Given the description of an element on the screen output the (x, y) to click on. 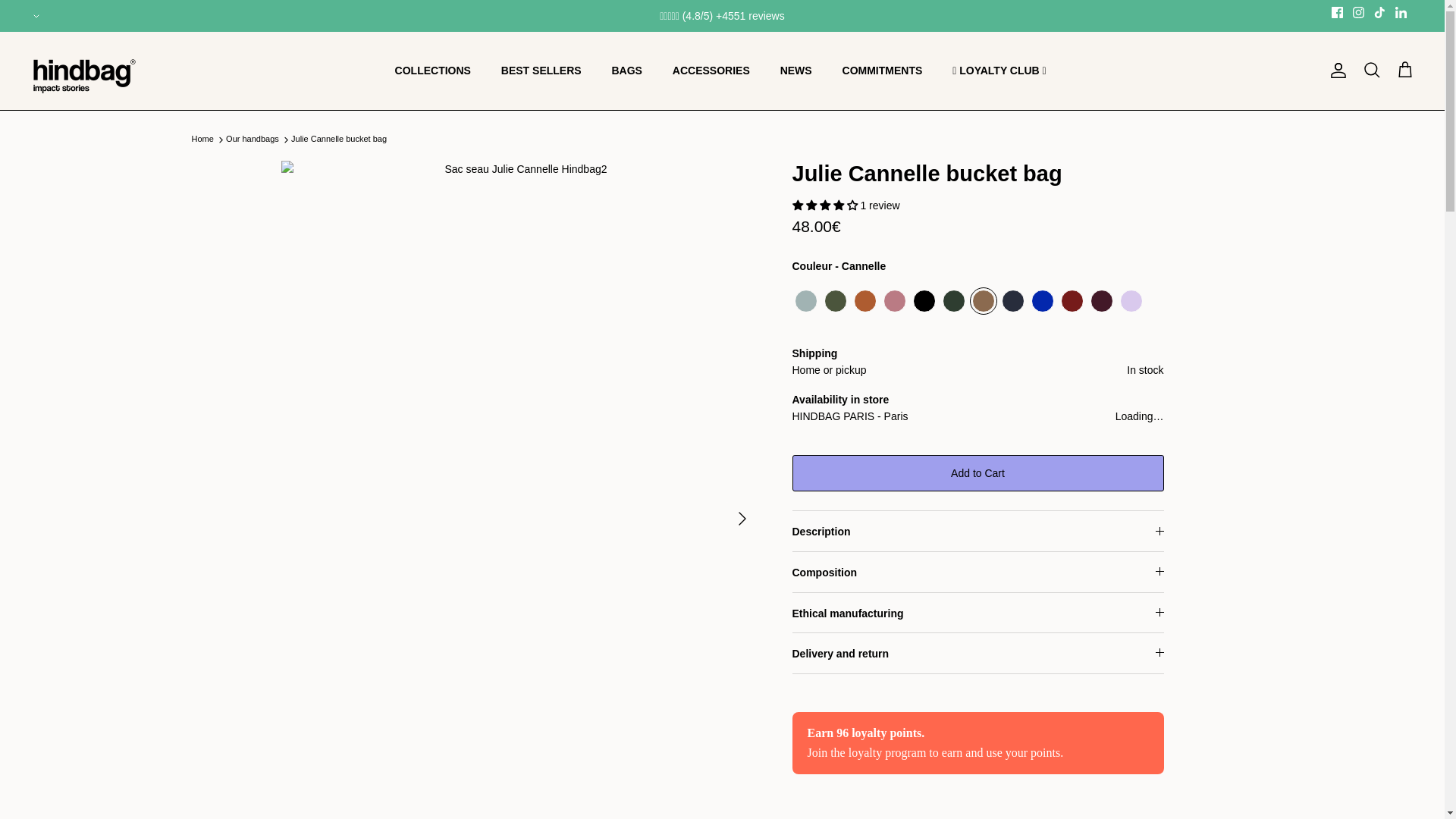
NEWS (796, 70)
COMMITMENTS (882, 70)
BAGS (625, 70)
Cart (1404, 70)
BEST SELLERS (541, 70)
COLLECTIONS (432, 70)
ACCESSORIES (710, 70)
Facebook (1337, 12)
Instagram (1358, 12)
Right (741, 518)
Hindbag (92, 70)
